Given the description of an element on the screen output the (x, y) to click on. 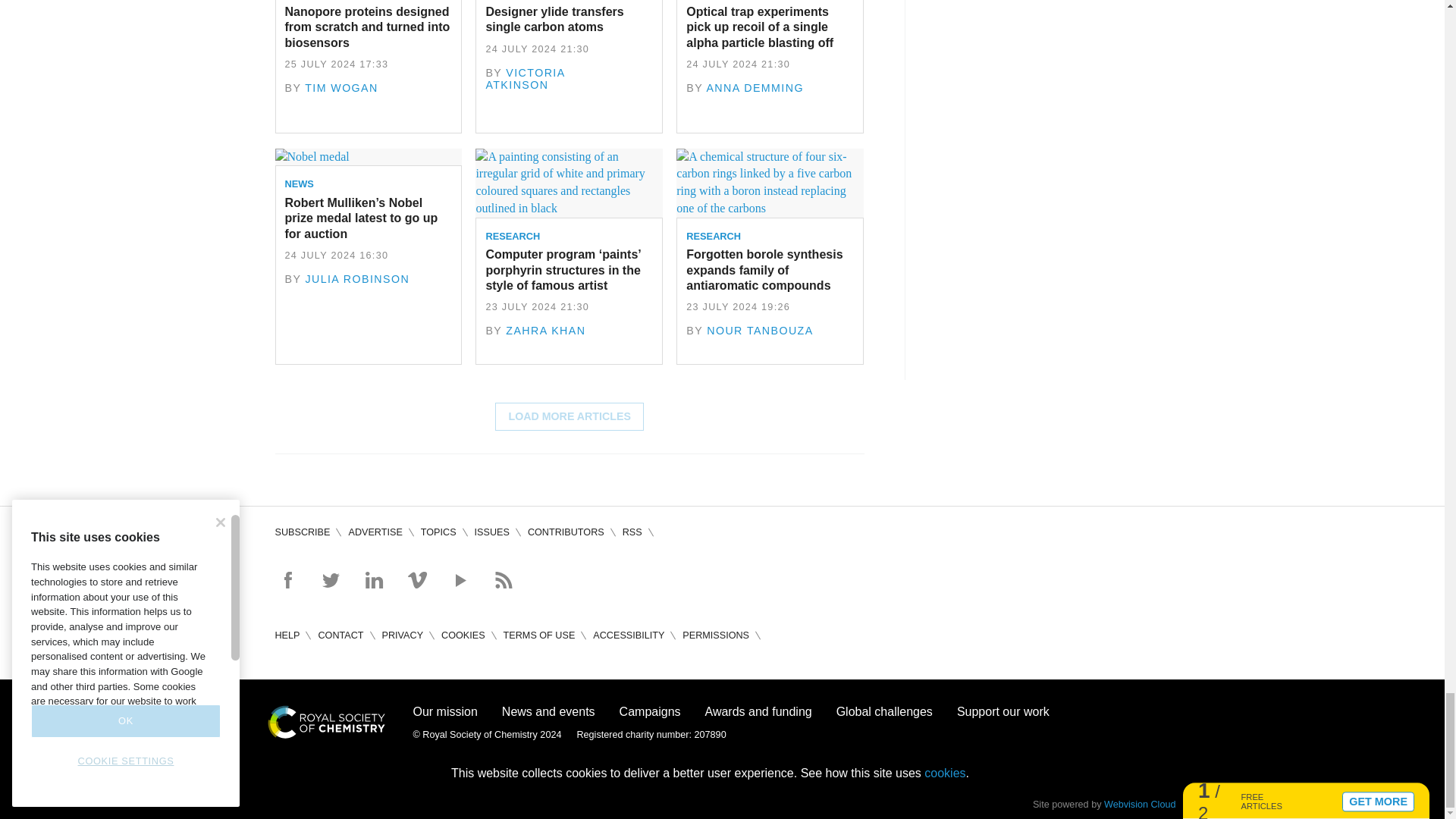
Follow on Facebook (287, 579)
Follow on Twitter (330, 579)
